Given the description of an element on the screen output the (x, y) to click on. 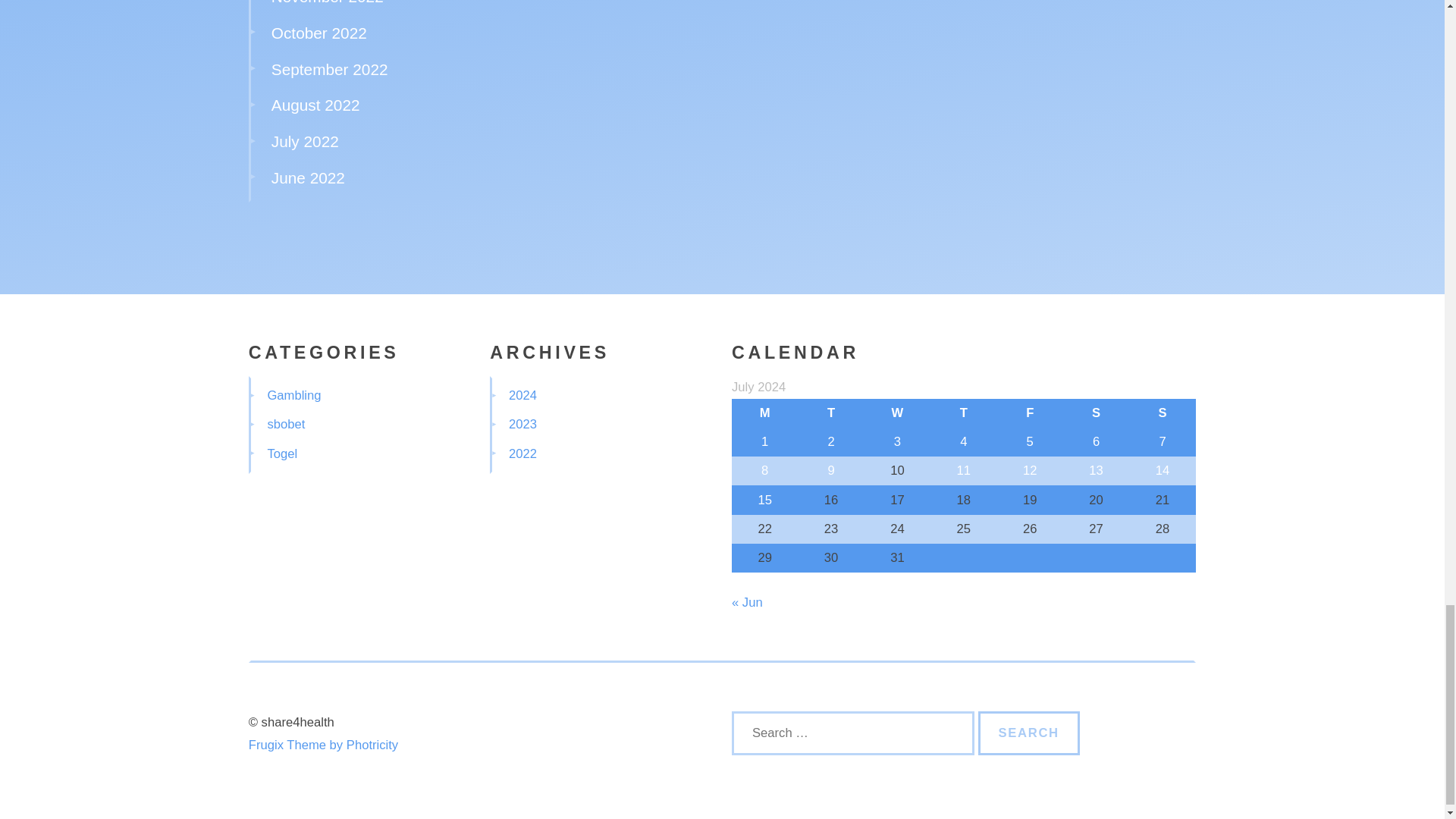
November 2022 (327, 2)
Monday (764, 412)
Tuesday (830, 412)
Saturday (1095, 412)
Friday (1029, 412)
October 2022 (318, 32)
Search (1029, 733)
Sunday (1162, 412)
Wednesday (897, 412)
Thursday (962, 412)
September 2022 (329, 68)
June 2022 (307, 177)
August 2022 (314, 104)
Search (1029, 733)
July 2022 (304, 140)
